Given the description of an element on the screen output the (x, y) to click on. 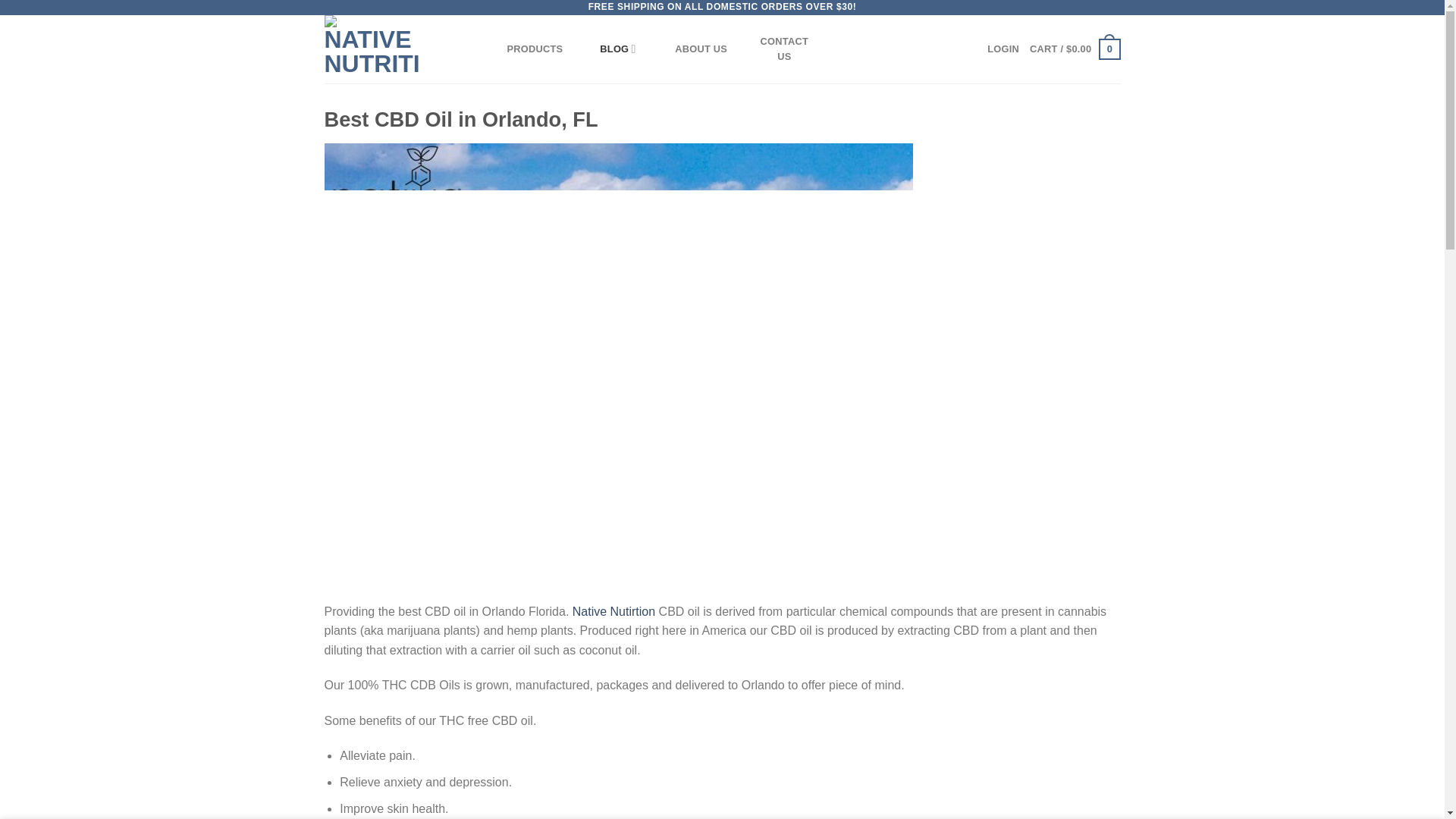
LOGIN (1003, 49)
ABOUT US (700, 49)
BLOG (616, 49)
PRODUCTS (534, 49)
CONTACT US (783, 49)
Native Nutirtion (613, 611)
Cart (1074, 48)
